Given the description of an element on the screen output the (x, y) to click on. 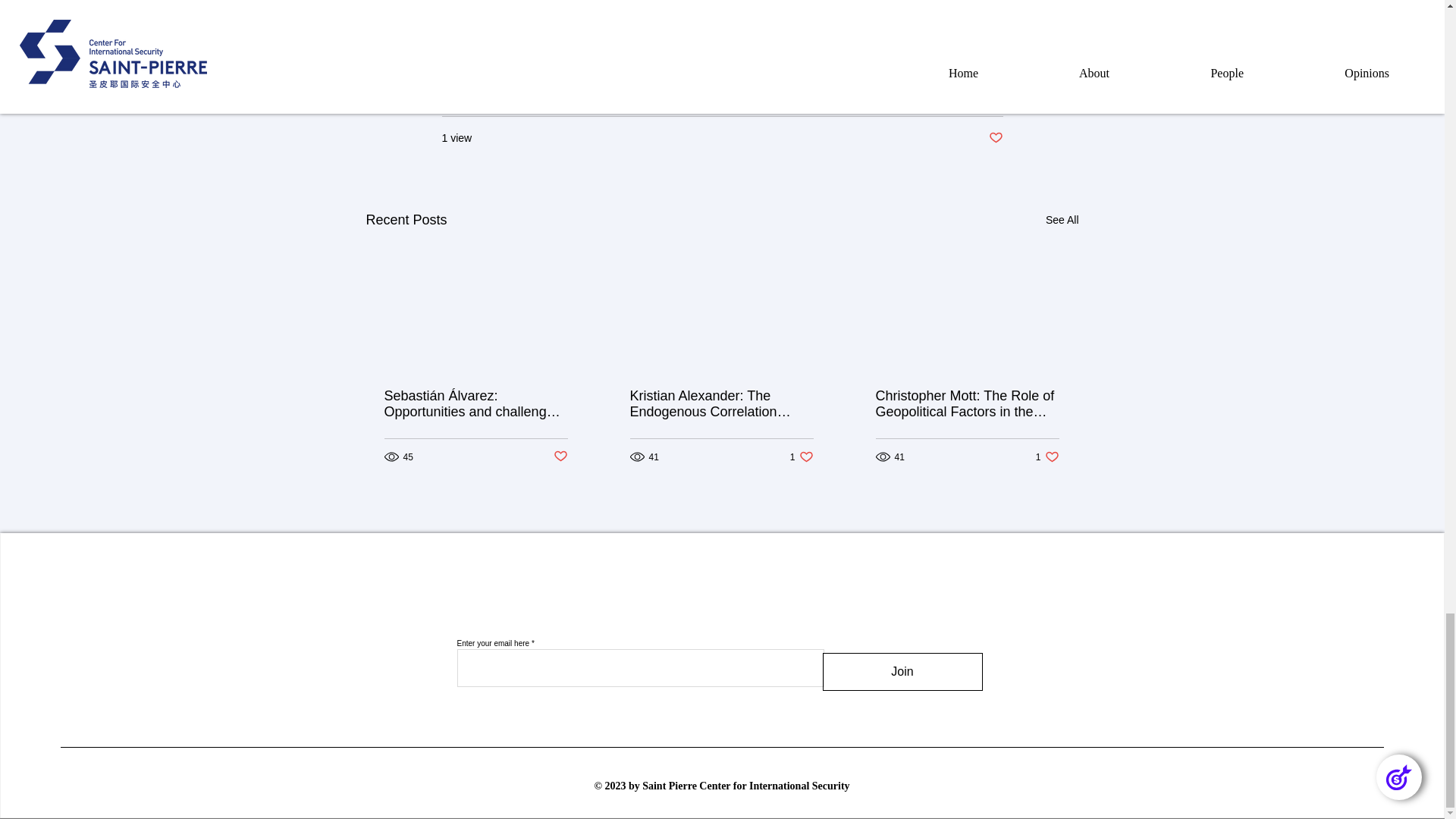
Post not marked as liked (995, 138)
See All (1061, 219)
Join (801, 456)
Post not marked as liked (1047, 456)
